Given the description of an element on the screen output the (x, y) to click on. 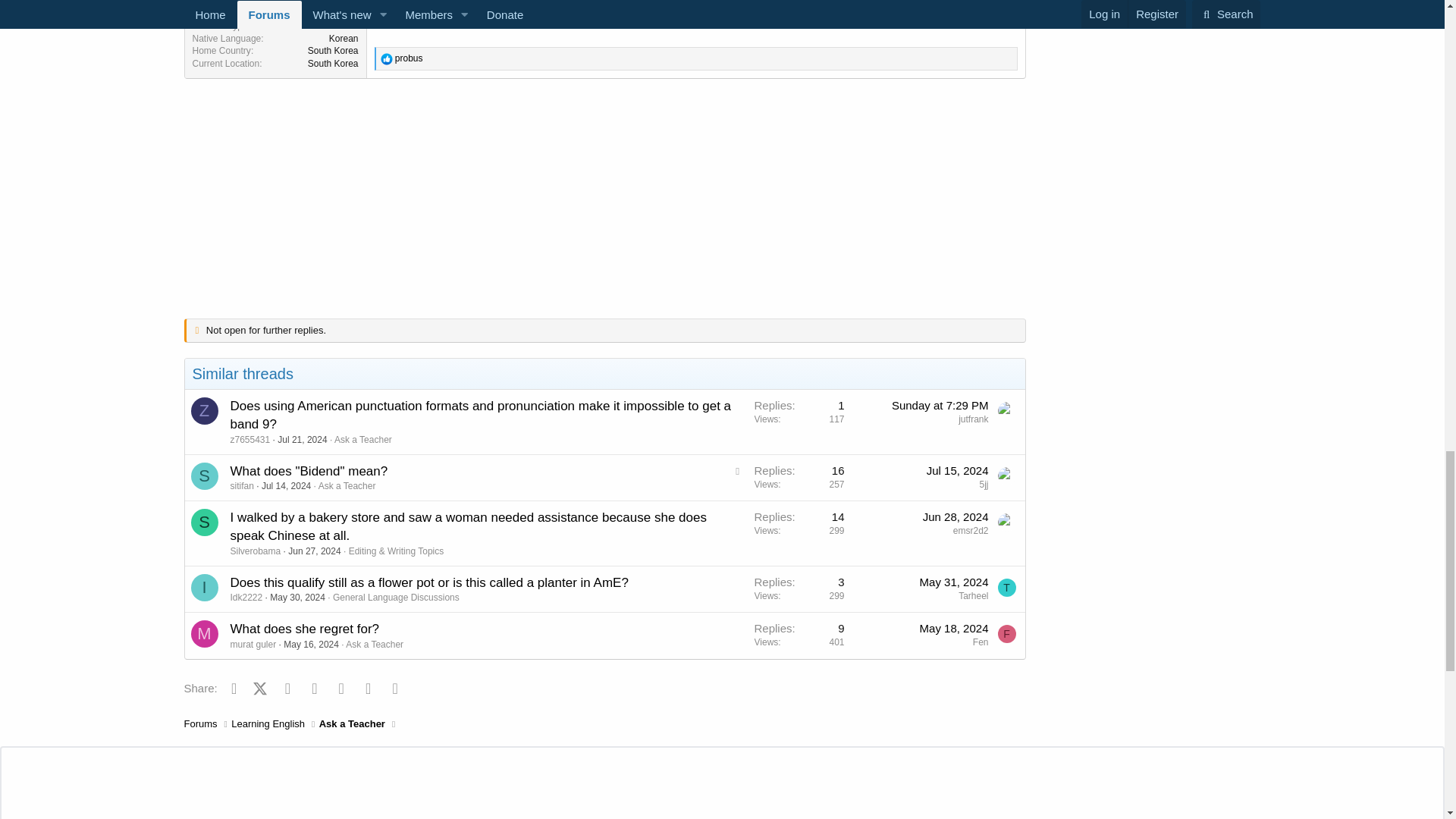
Like (386, 59)
Jul 28, 2024 at 7:29 PM (939, 404)
First message reaction score: 0 (799, 421)
Jul 21, 2024 at 12:26 PM (302, 439)
